Given the description of an element on the screen output the (x, y) to click on. 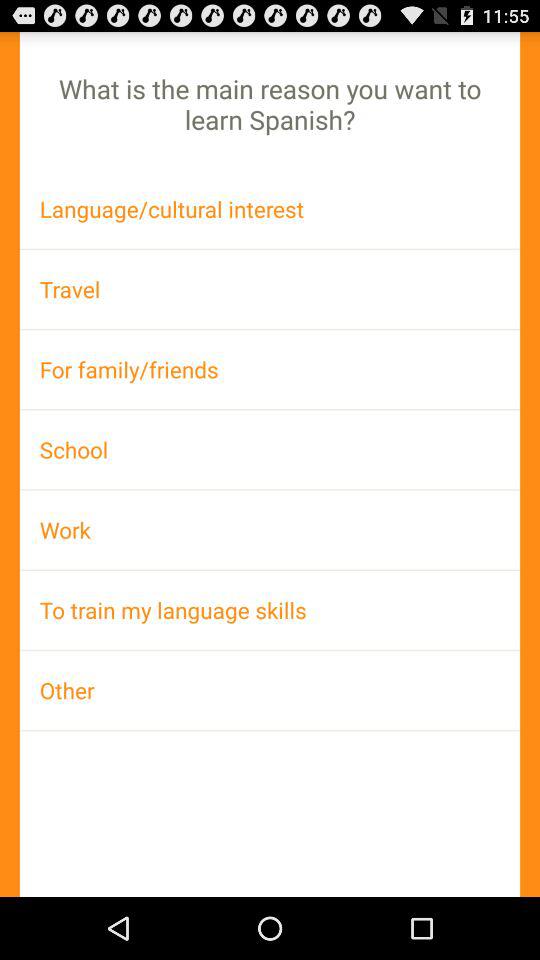
swipe until the language/cultural interest (269, 208)
